Given the description of an element on the screen output the (x, y) to click on. 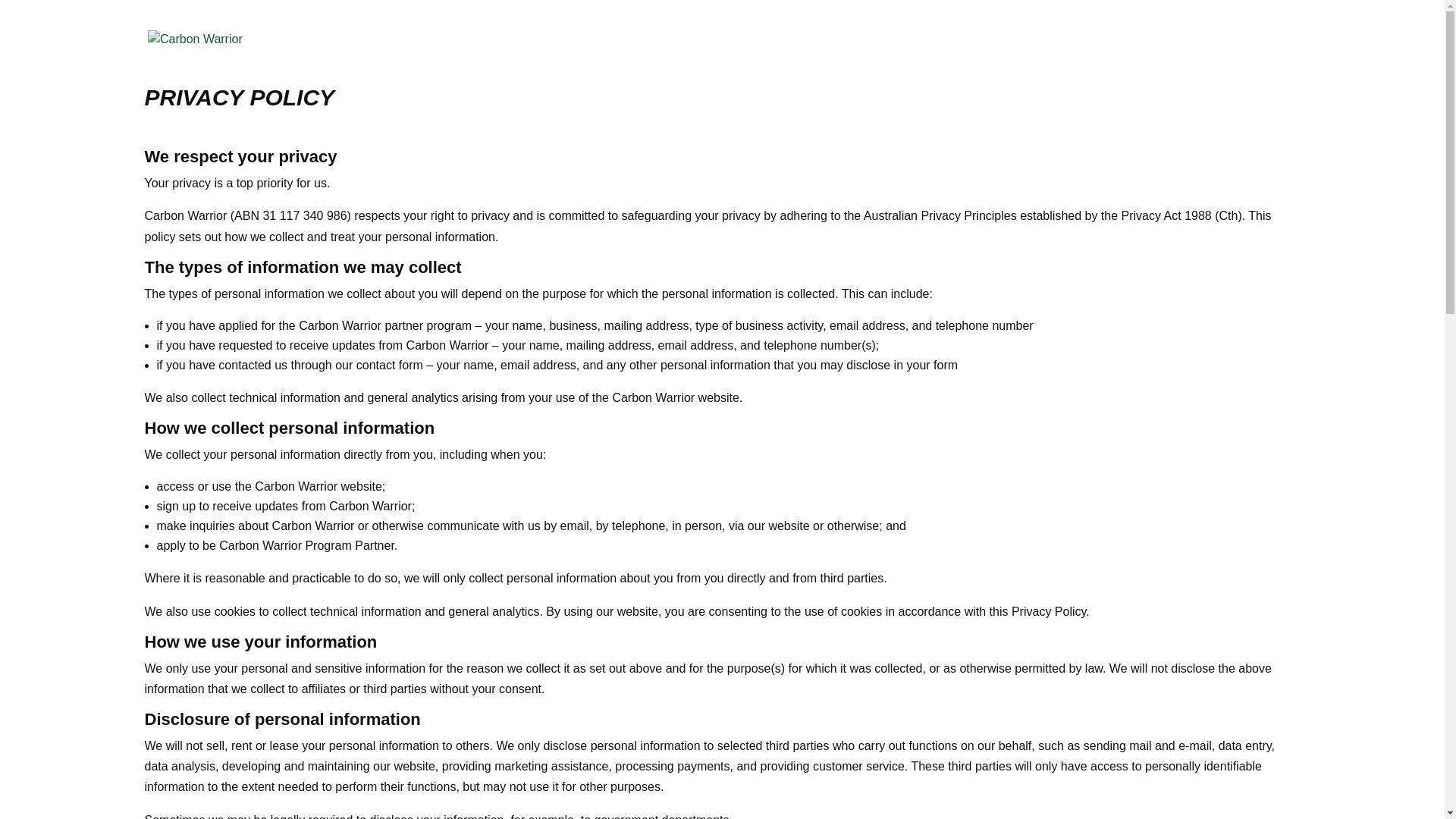
GLOBAL CARBON WARRIORS (1004, 54)
PROGRAM PARTNER (832, 54)
CONTACT US (1230, 54)
ACT NOW (1141, 54)
ABOUT US (719, 54)
